Given the description of an element on the screen output the (x, y) to click on. 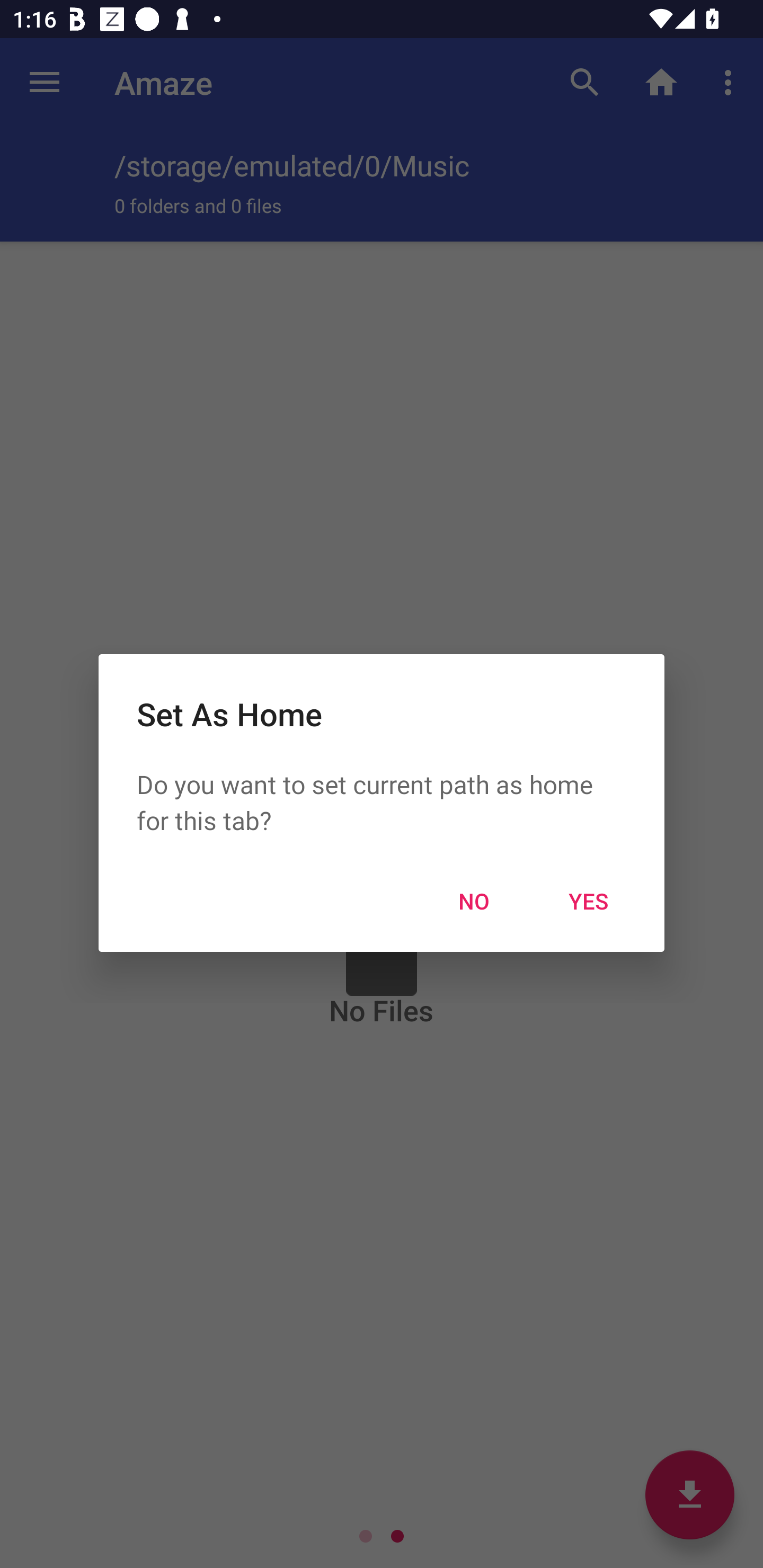
NO (473, 900)
YES (588, 900)
